Given the description of an element on the screen output the (x, y) to click on. 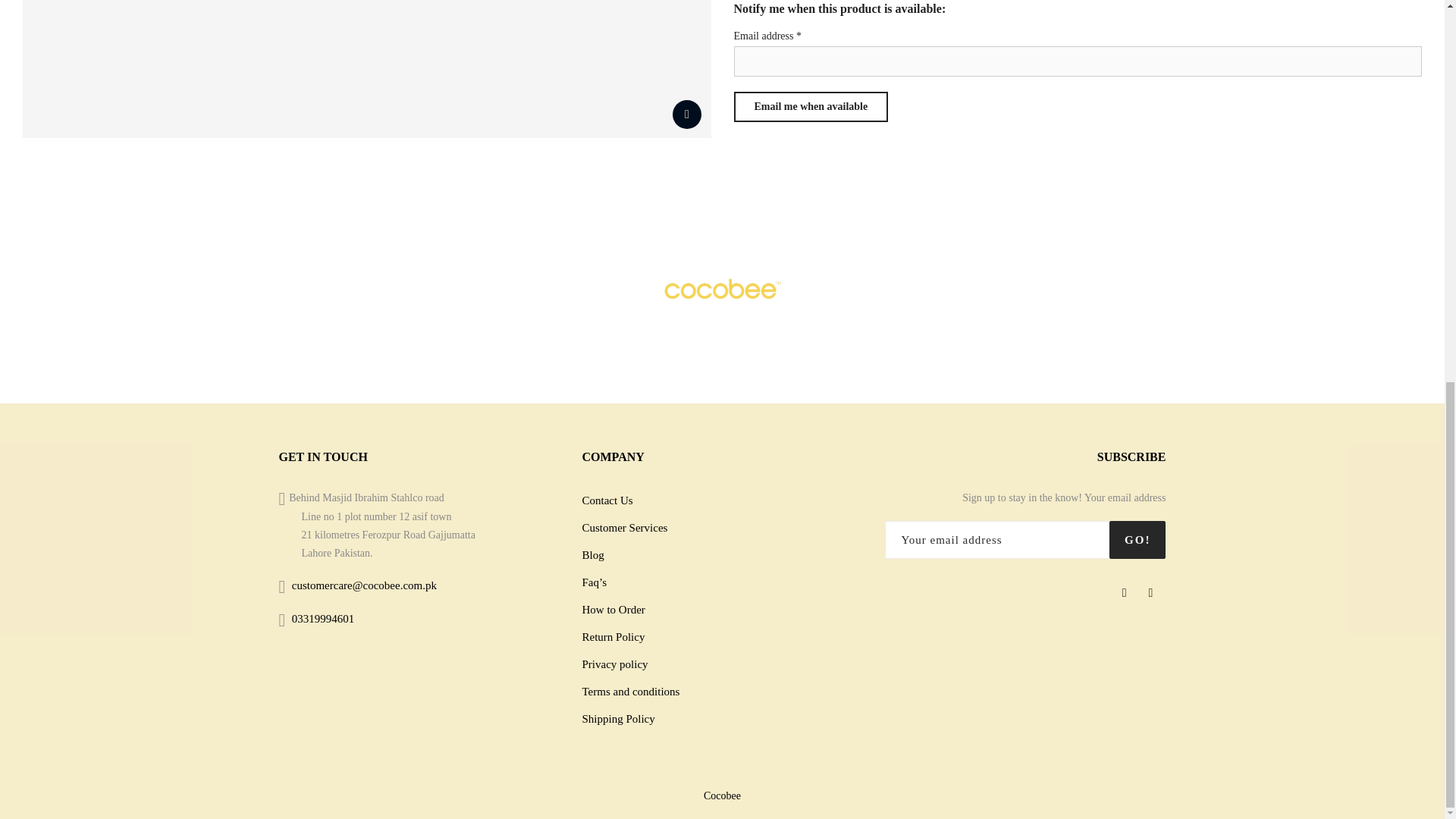
GO! (1137, 539)
Return Policy (612, 636)
03319994601 (323, 618)
Contact Us (605, 500)
Shipping Policy (616, 718)
Blog (592, 554)
Email me when available (810, 106)
Email me when available (810, 106)
Privacy policy (613, 664)
Customer Services (623, 527)
